Given the description of an element on the screen output the (x, y) to click on. 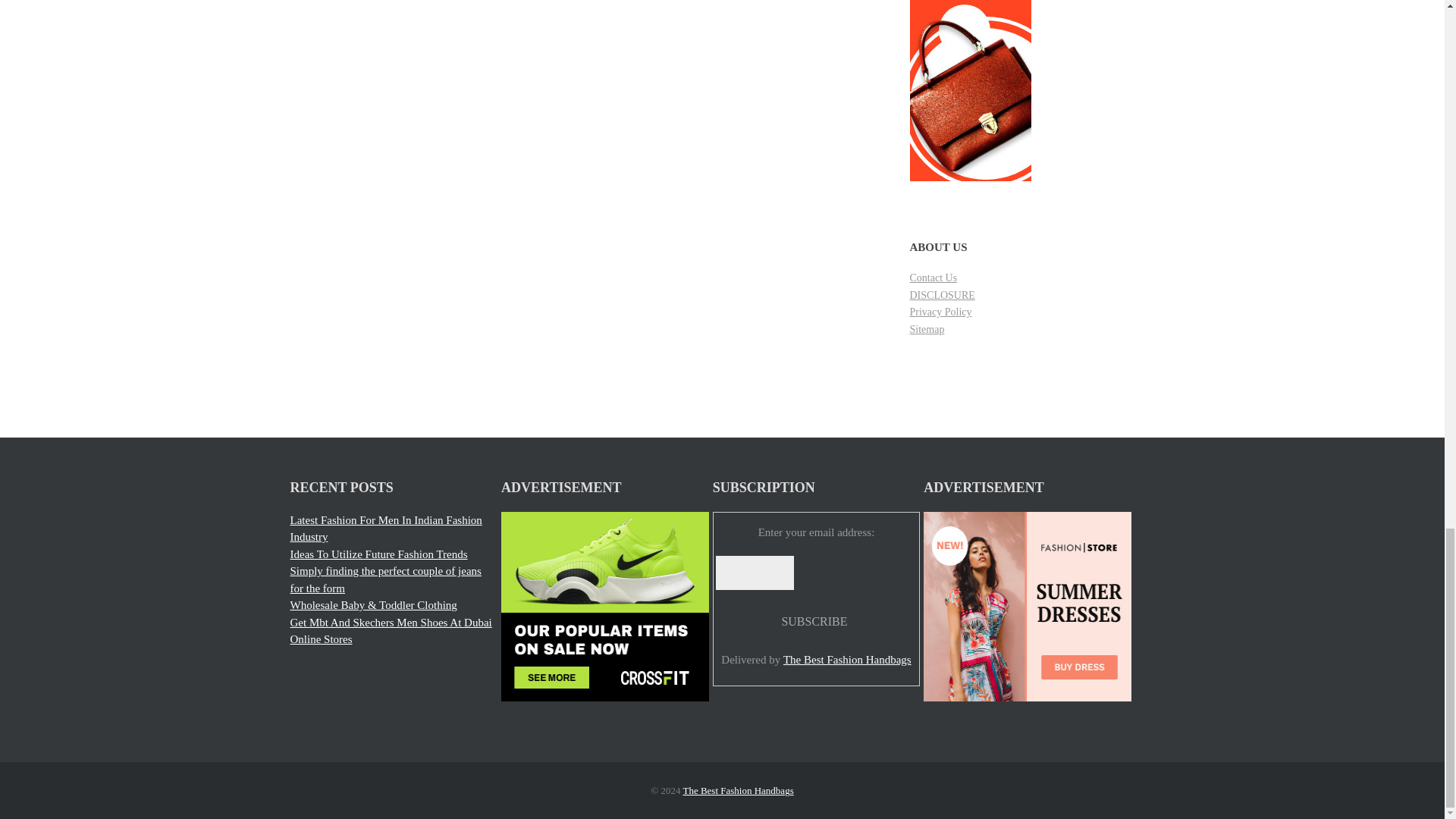
Subscribe (813, 621)
